Given the description of an element on the screen output the (x, y) to click on. 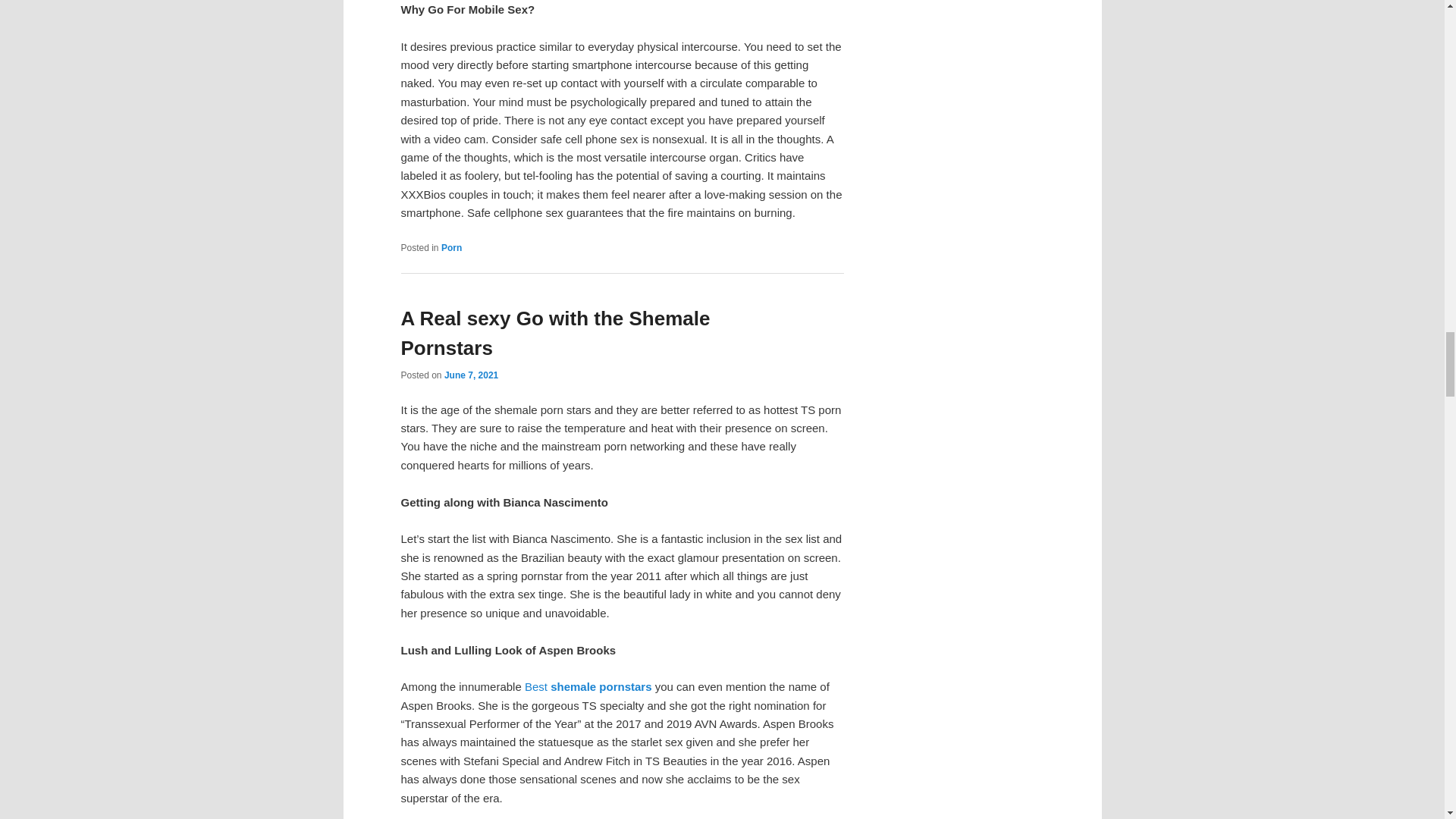
June 7, 2021 (470, 375)
A Real sexy Go with the Shemale Pornstars (555, 333)
Porn (451, 247)
Best shemale pornstars (588, 686)
8:23 am (470, 375)
